Given the description of an element on the screen output the (x, y) to click on. 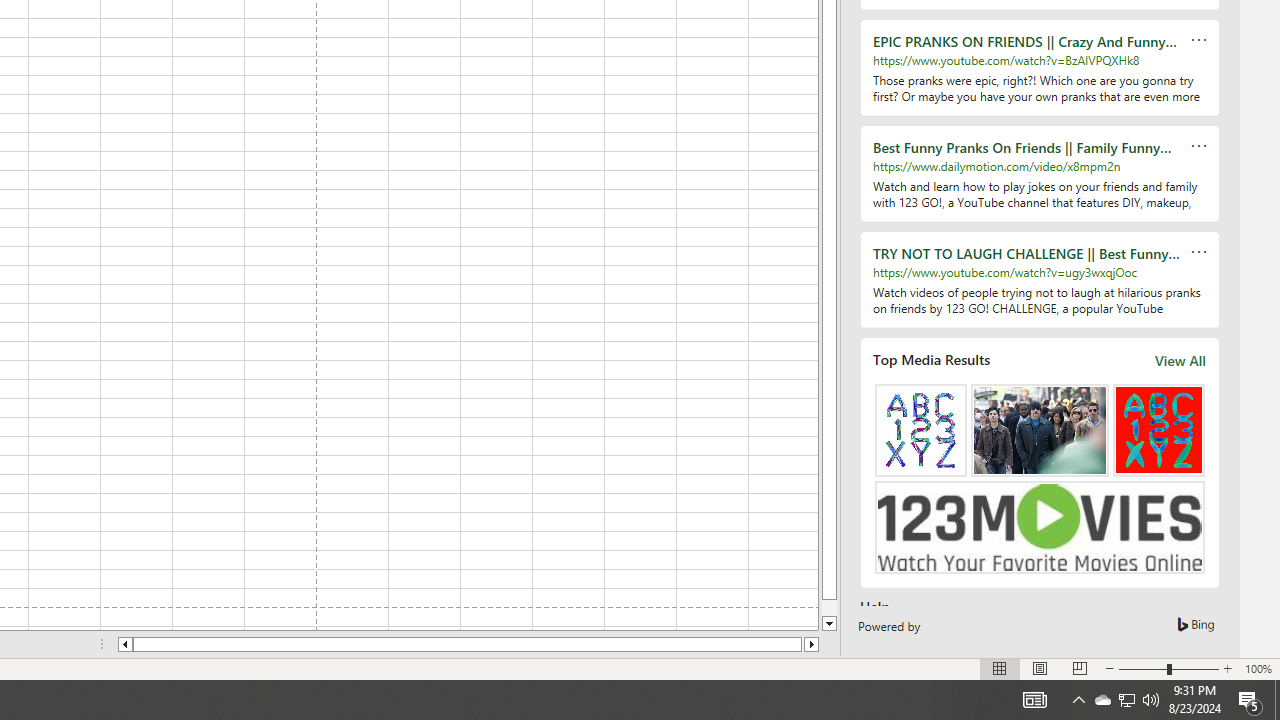
AutomationID: 4105 (1034, 699)
Action Center, 5 new notifications (1250, 699)
User Promoted Notification Area (1126, 699)
Notification Chevron (1126, 699)
Q2790: 100% (1078, 699)
